Given the description of an element on the screen output the (x, y) to click on. 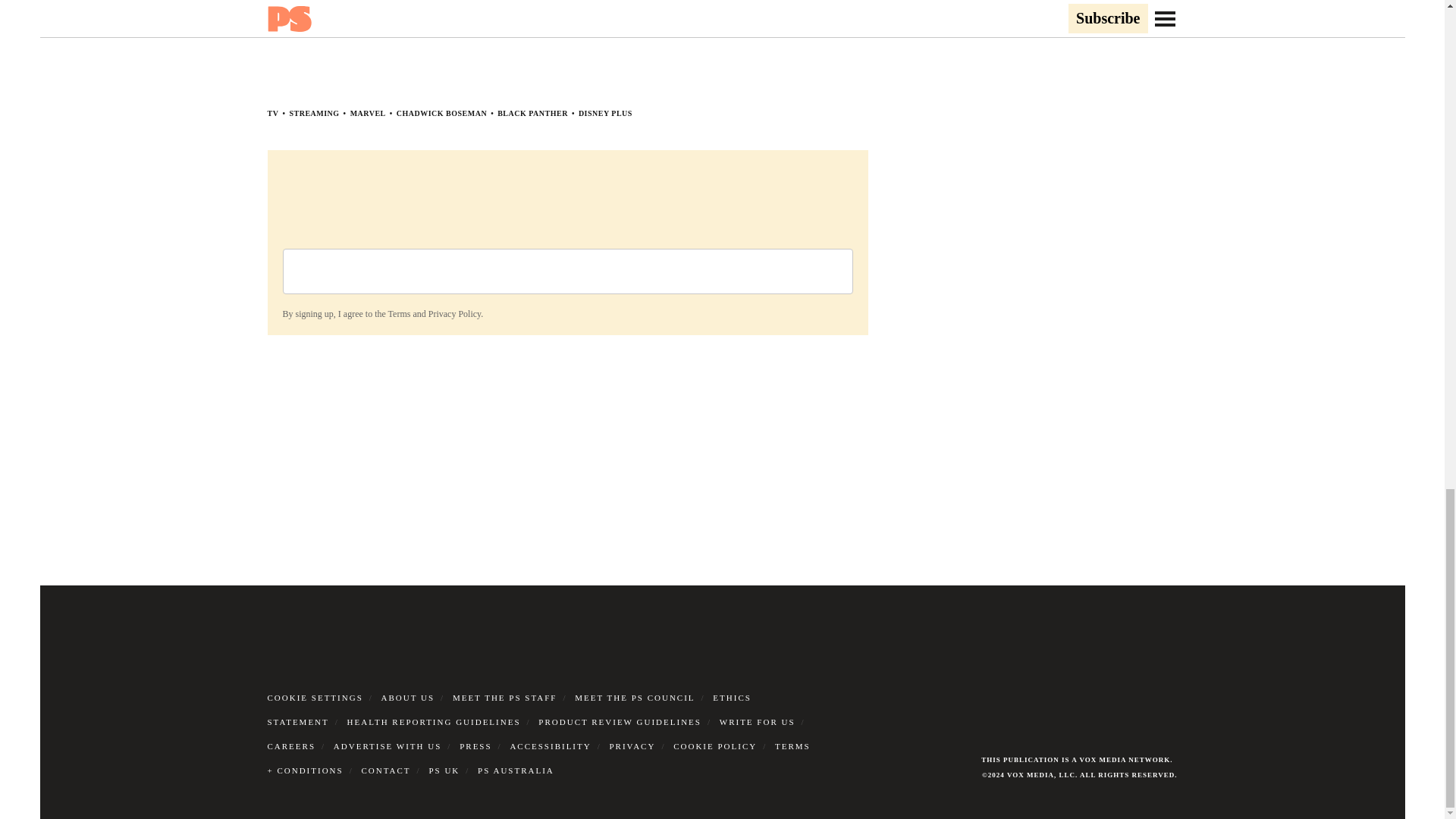
ADVERTISE WITH US (387, 746)
DISNEY PLUS (604, 112)
CAREERS (290, 746)
Privacy Policy. (455, 312)
Terms (399, 312)
ABOUT US (408, 697)
BLACK PANTHER (532, 112)
MEET THE PS COUNCIL (634, 697)
MEET THE PS STAFF (504, 697)
ETHICS STATEMENT (508, 709)
